Given the description of an element on the screen output the (x, y) to click on. 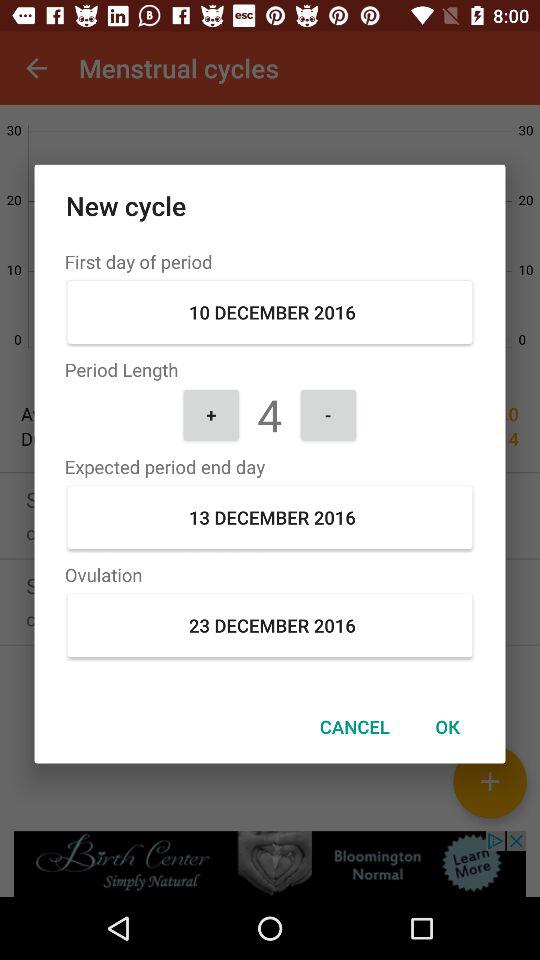
swipe to - icon (328, 414)
